Given the description of an element on the screen output the (x, y) to click on. 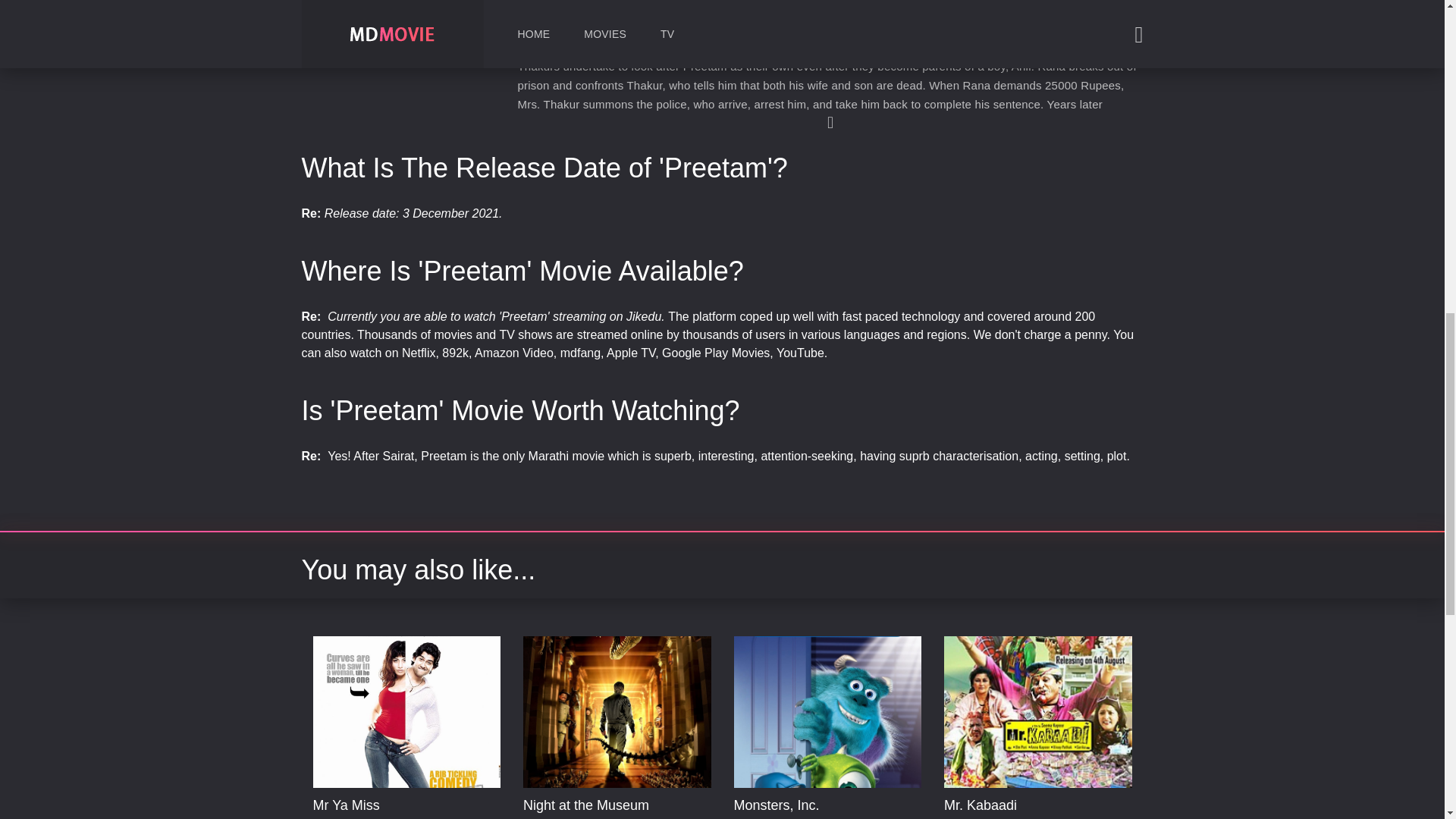
Animation (756, 817)
Drama (1004, 817)
Adventure (582, 817)
Night at the Museum (585, 805)
Comedy (332, 817)
Family (671, 817)
Action (537, 817)
Monsters, Inc. (776, 805)
Family (846, 817)
Comedy (805, 817)
Comedy (630, 817)
Mr Ya Miss (345, 805)
Comedy (963, 817)
Mr. Kabaadi (979, 805)
